Given the description of an element on the screen output the (x, y) to click on. 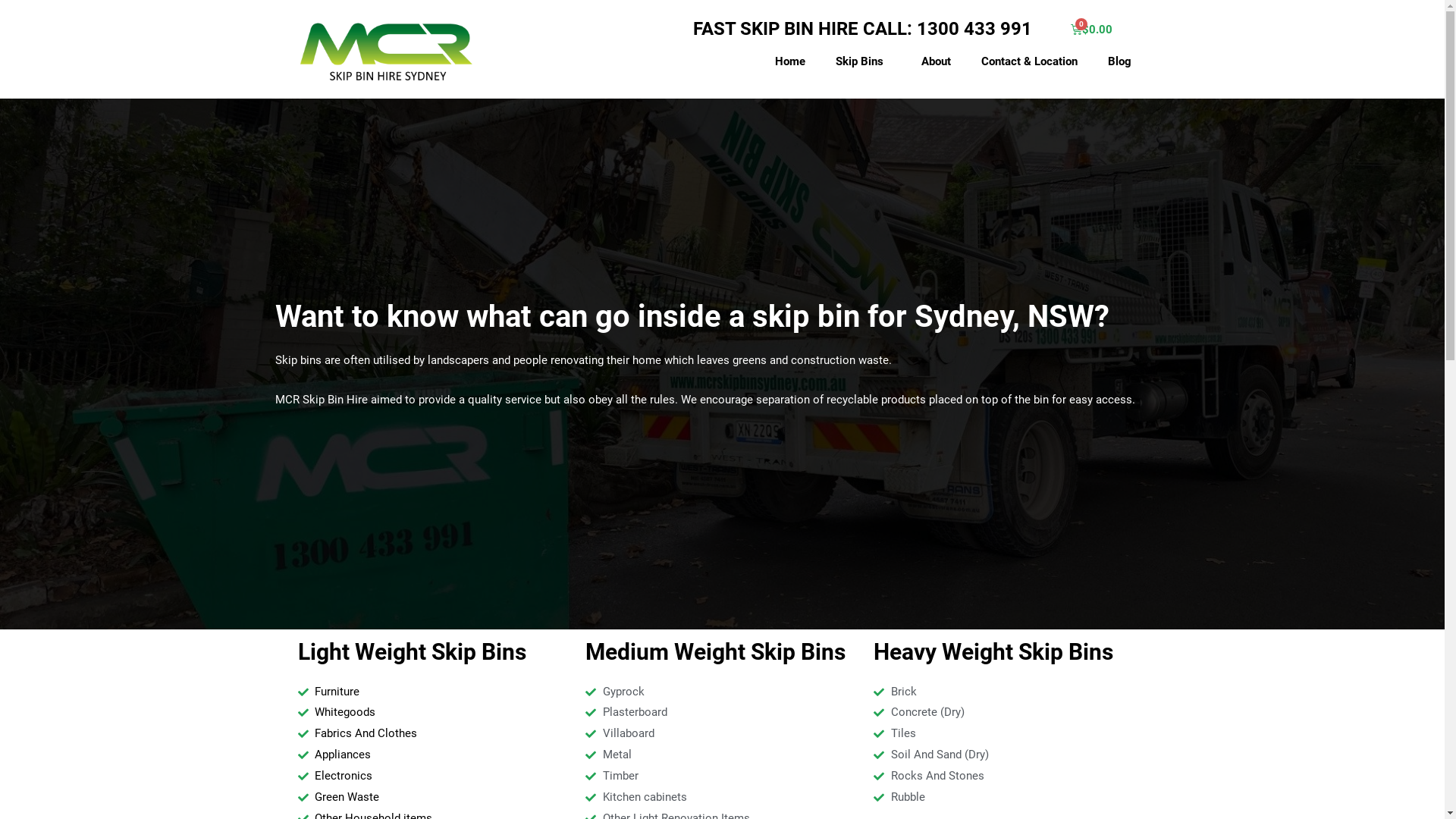
Blog Element type: text (1119, 60)
Contact & Location Element type: text (1029, 60)
$0.00 Element type: text (1093, 29)
Skip Bins Element type: text (863, 60)
Home Element type: text (789, 60)
About Element type: text (936, 60)
